Given the description of an element on the screen output the (x, y) to click on. 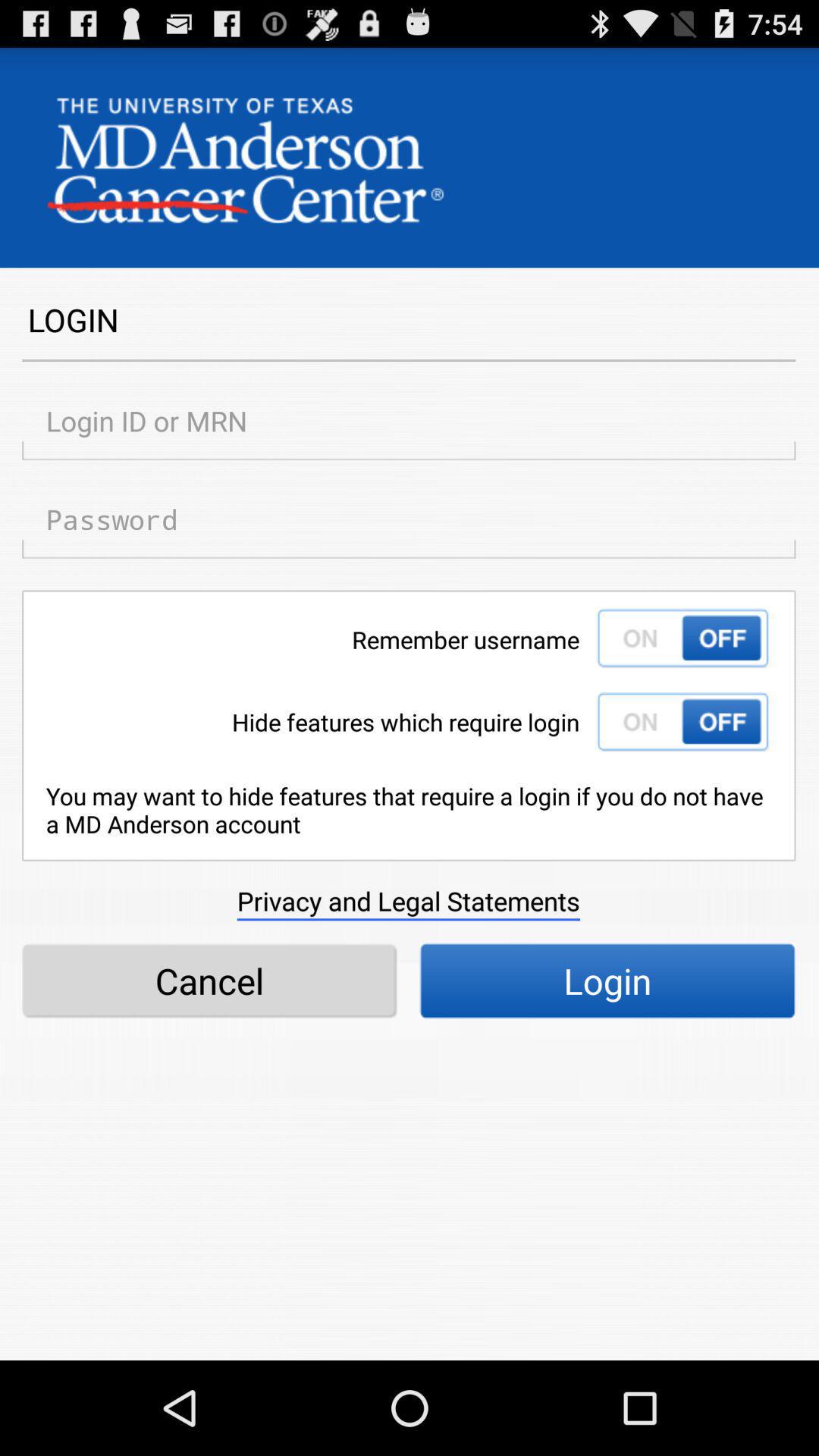
tap button to the left of login item (209, 980)
